Given the description of an element on the screen output the (x, y) to click on. 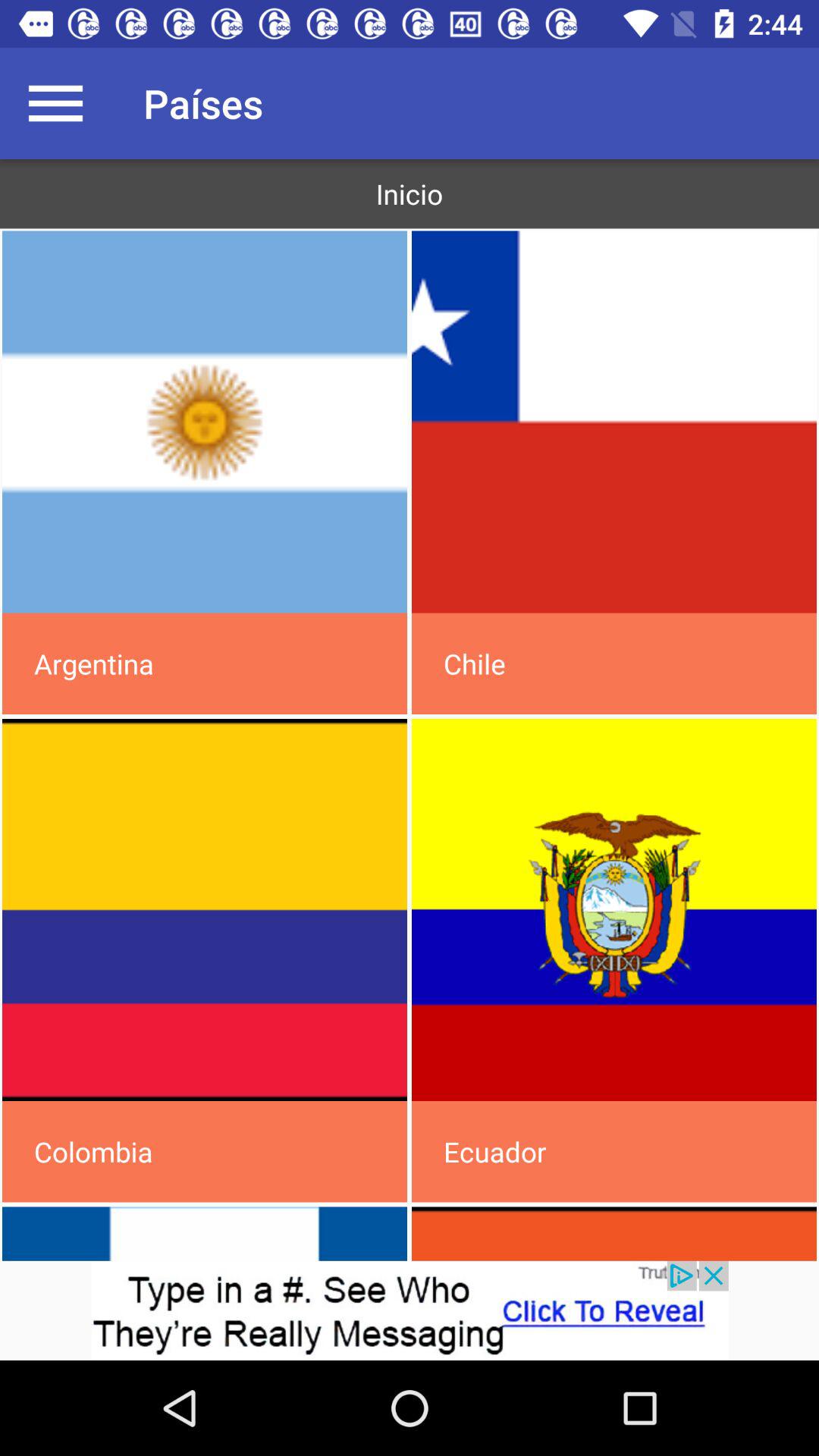
for flag (204, 421)
